Given the description of an element on the screen output the (x, y) to click on. 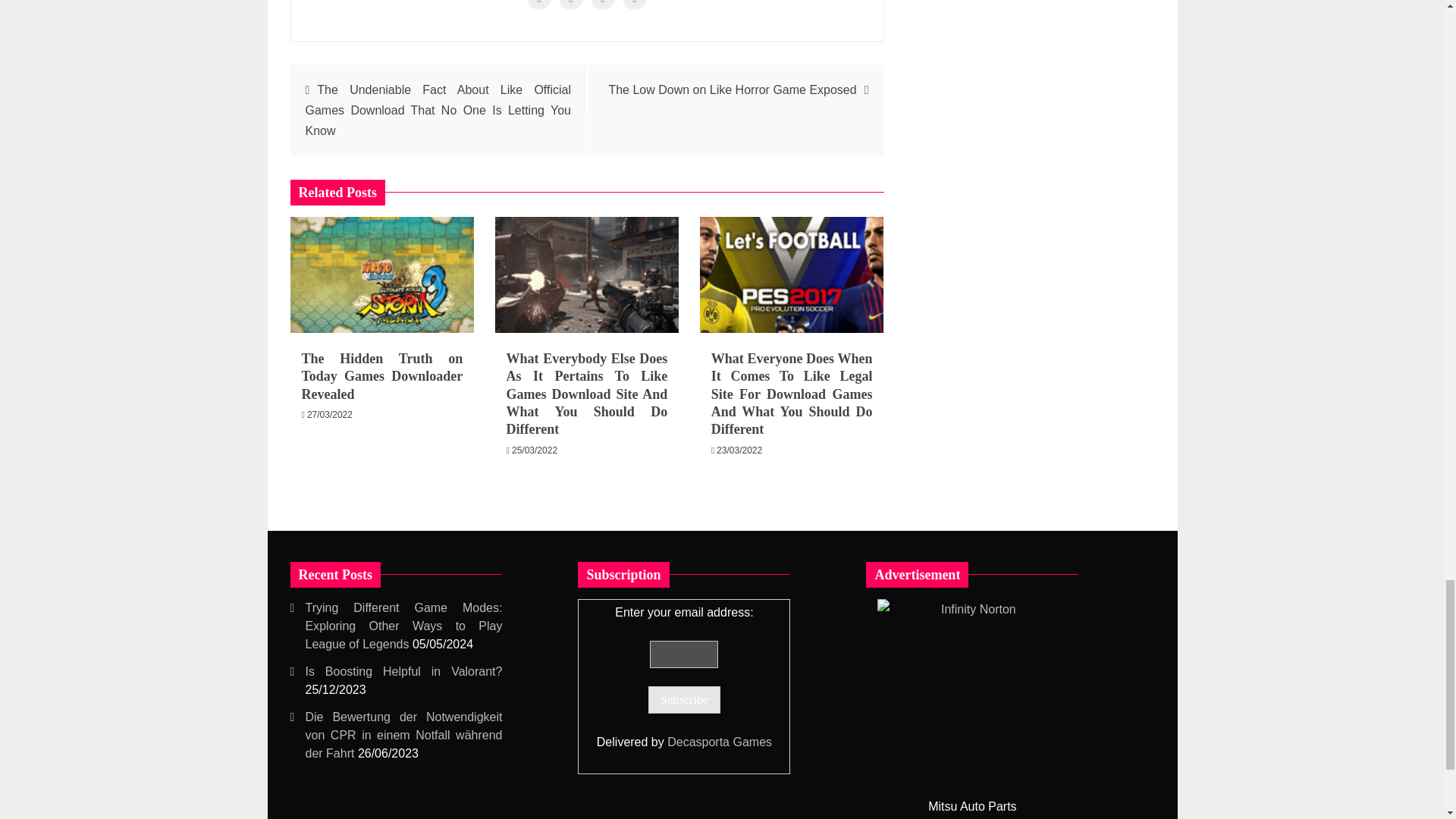
Subscribe (683, 699)
The Hidden Truth on Today Games Downloader Revealed (381, 274)
The Hidden Truth on Today Games Downloader Revealed (382, 376)
The Low Down on Like Horror Game Exposed (732, 89)
